Given the description of an element on the screen output the (x, y) to click on. 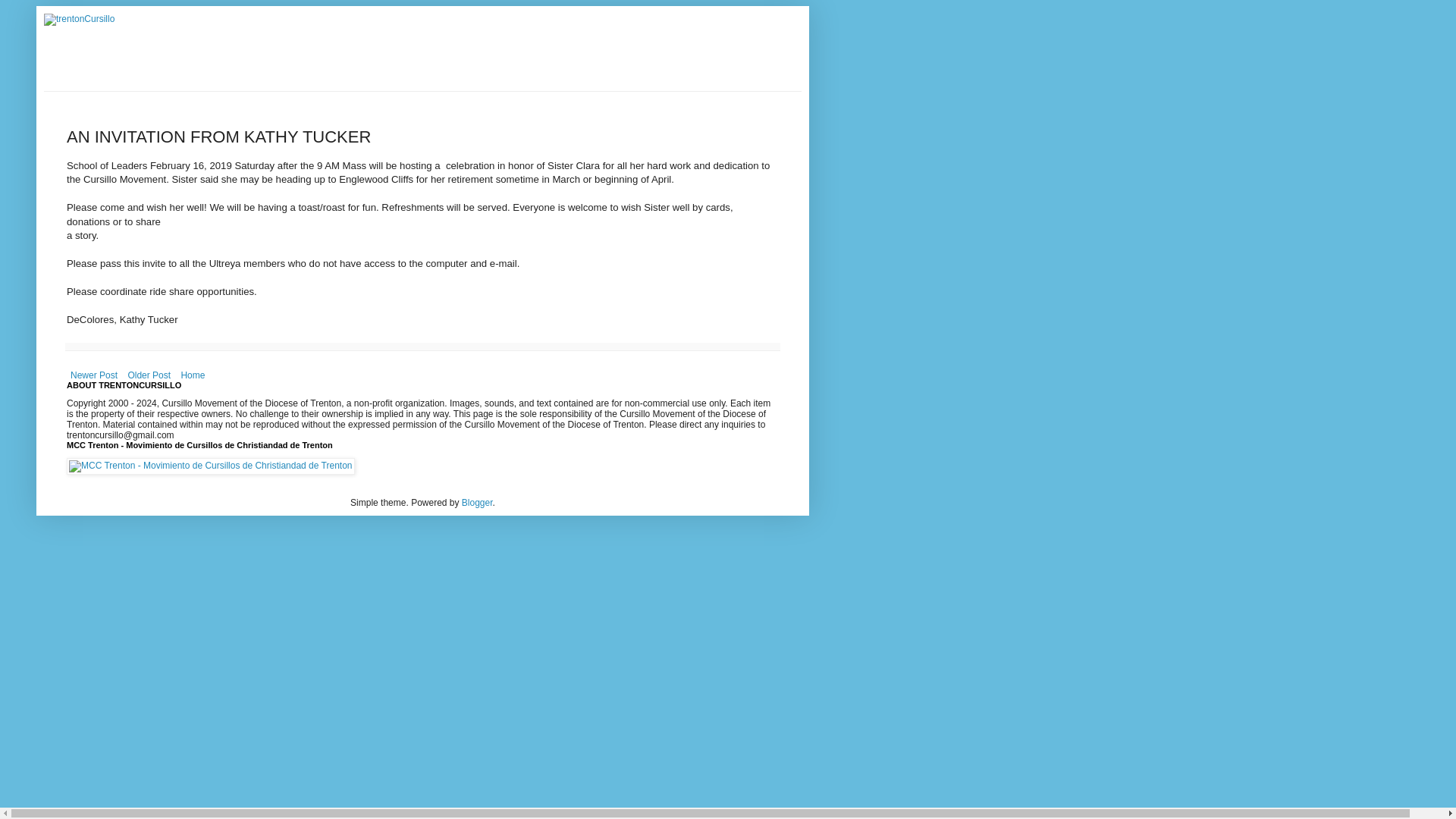
Older Post (148, 374)
Older Post (148, 374)
Home (192, 374)
Blogger (477, 502)
Newer Post (93, 374)
Newer Post (93, 374)
